Given the description of an element on the screen output the (x, y) to click on. 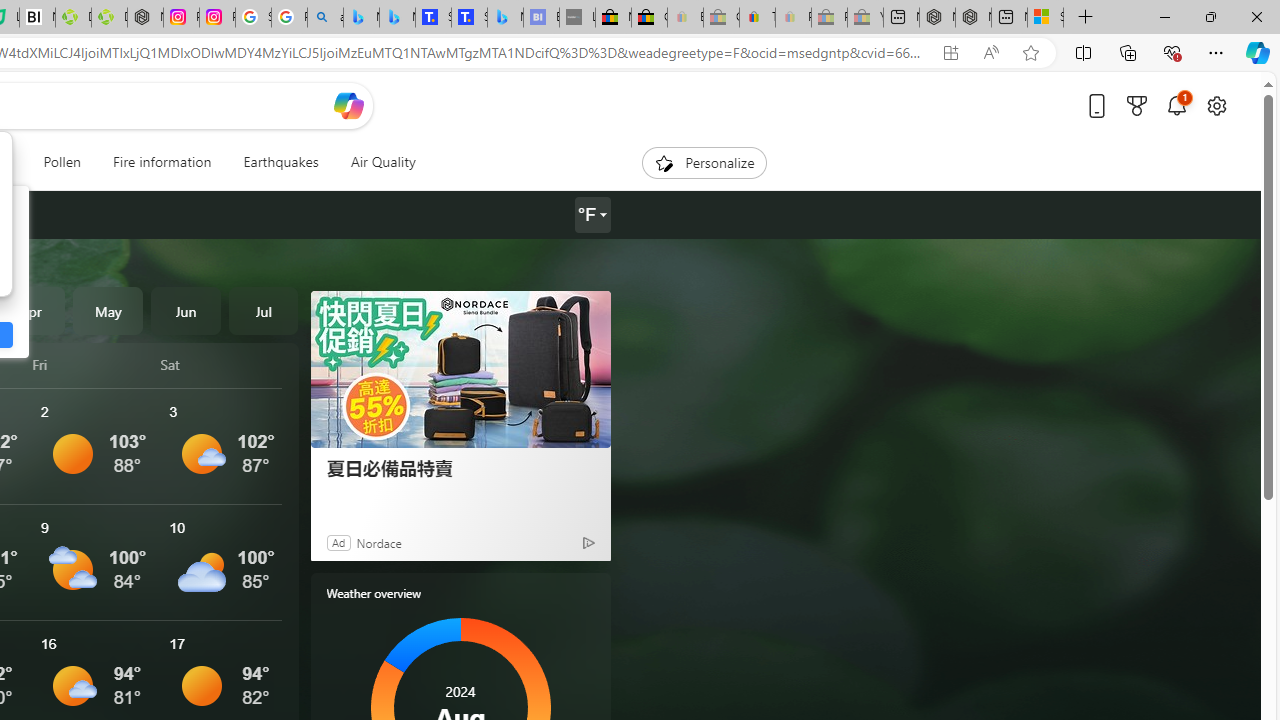
Fire information (161, 162)
Nordace - Summer Adventures 2024 (973, 17)
Safety in Our Products - Google Safety Center (253, 17)
Personalize (703, 162)
Pollen (61, 162)
Nvidia va a poner a prueba la paciencia de los inversores (37, 17)
